Given the description of an element on the screen output the (x, y) to click on. 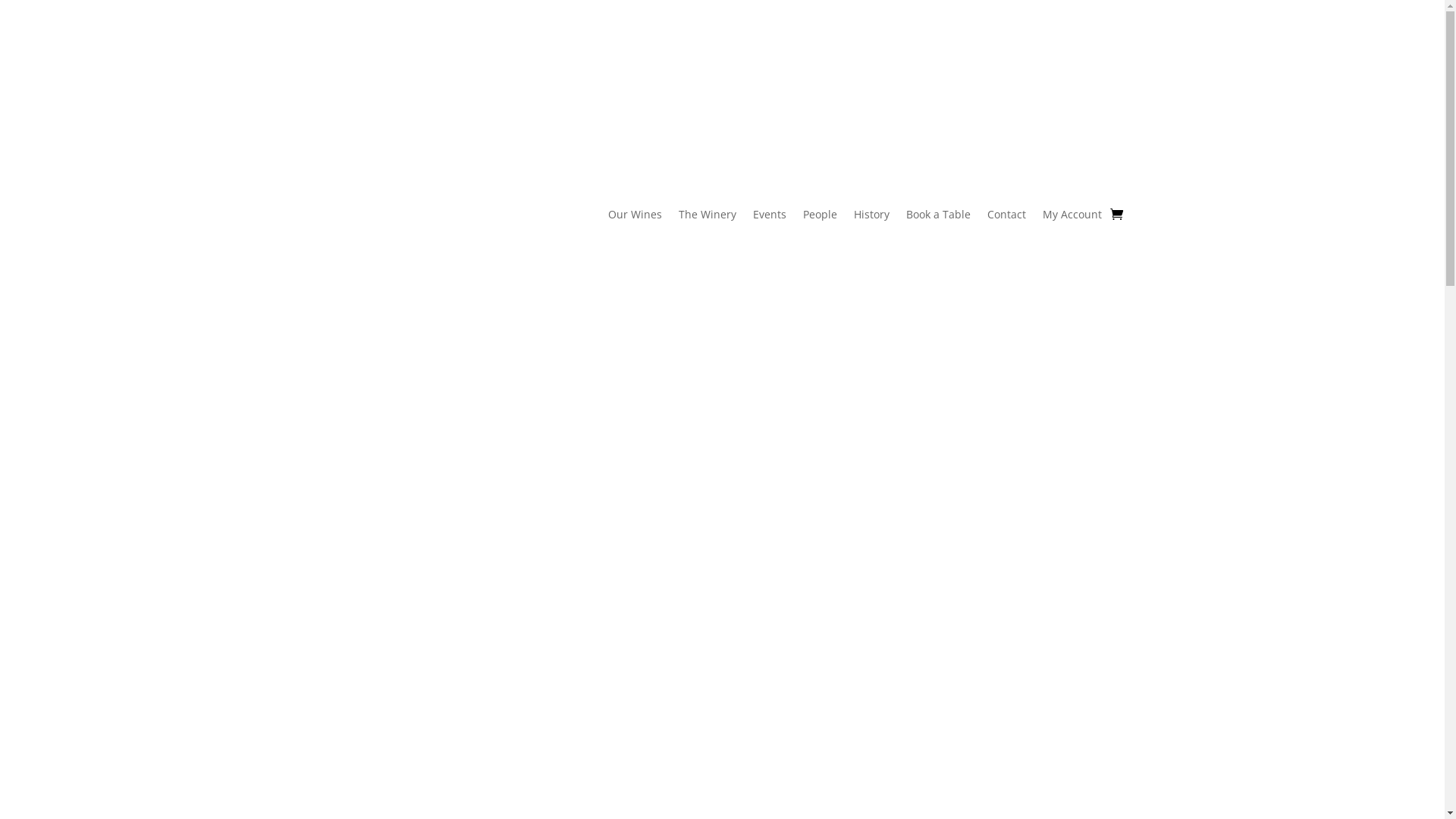
Our Wines Element type: text (635, 217)
The Winery Element type: text (707, 217)
History Element type: text (871, 217)
Murchison Wines Element type: hover (975, 812)
Book a Table Element type: text (938, 217)
Events Element type: text (769, 217)
People Element type: text (820, 217)
Contact Element type: text (1006, 217)
Murchison Wines Element type: hover (397, 263)
My Account Element type: text (1071, 217)
Murchison Wines Element type: hover (397, 505)
